Given the description of an element on the screen output the (x, y) to click on. 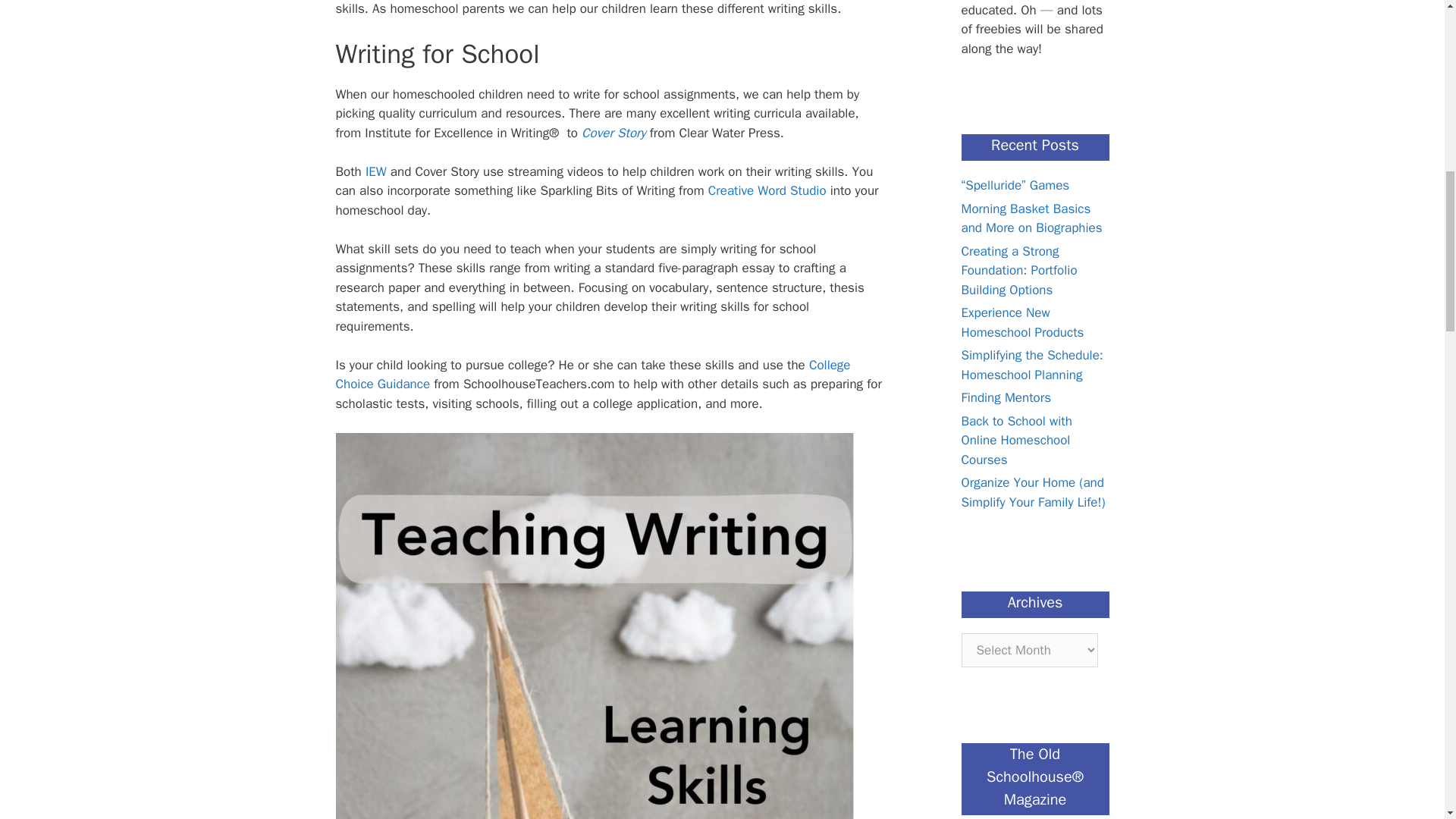
Creative Word Studio (767, 190)
Cover Story (613, 132)
Scroll back to top (1406, 720)
IEW (376, 171)
College Choice Guidance (592, 375)
